Given the description of an element on the screen output the (x, y) to click on. 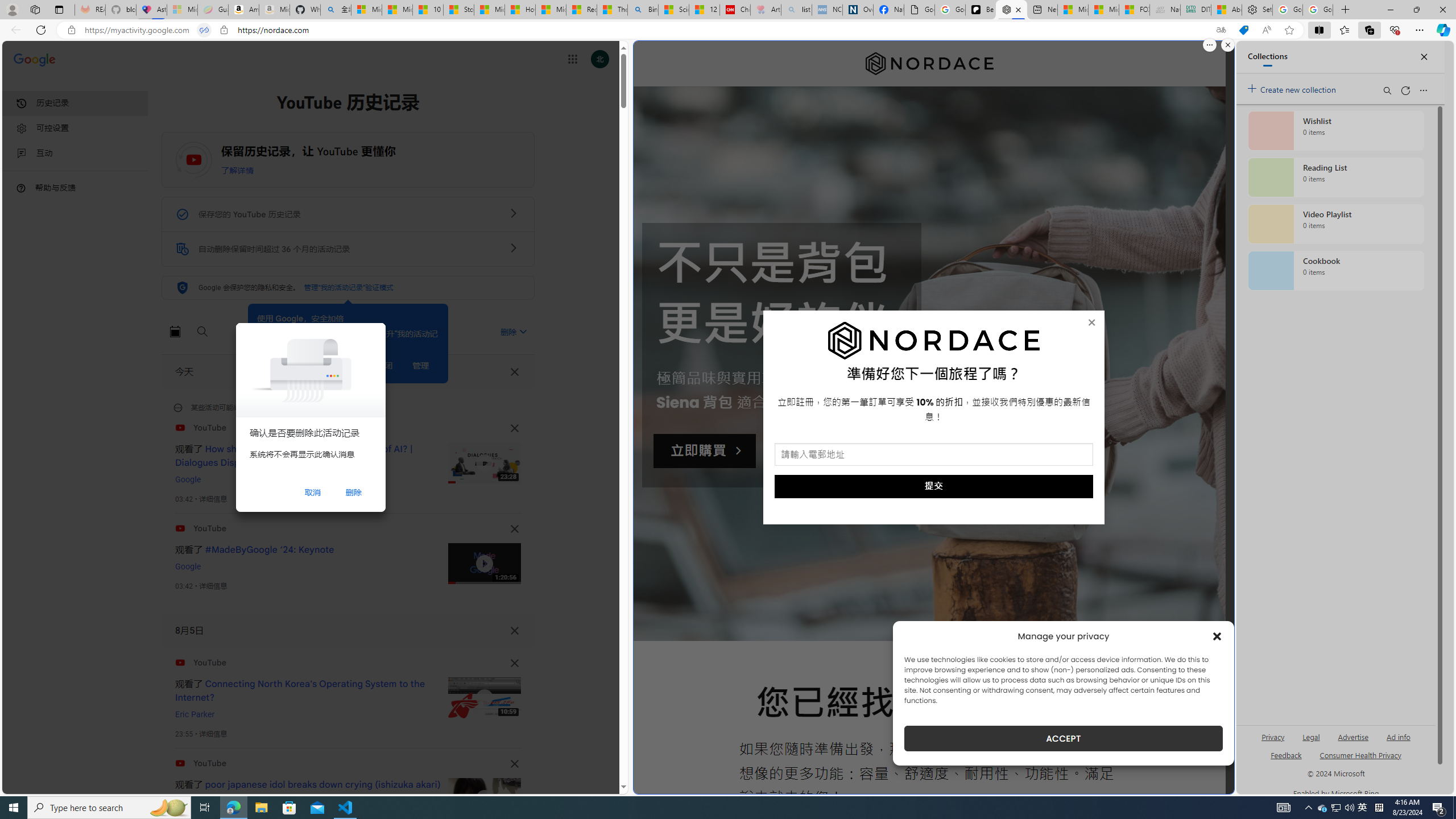
AutomationID: input_5_1 (933, 454)
Arthritis: Ask Health Professionals - Sleeping (765, 9)
FOX News - MSN (1133, 9)
ACCEPT (1063, 738)
